Given the description of an element on the screen output the (x, y) to click on. 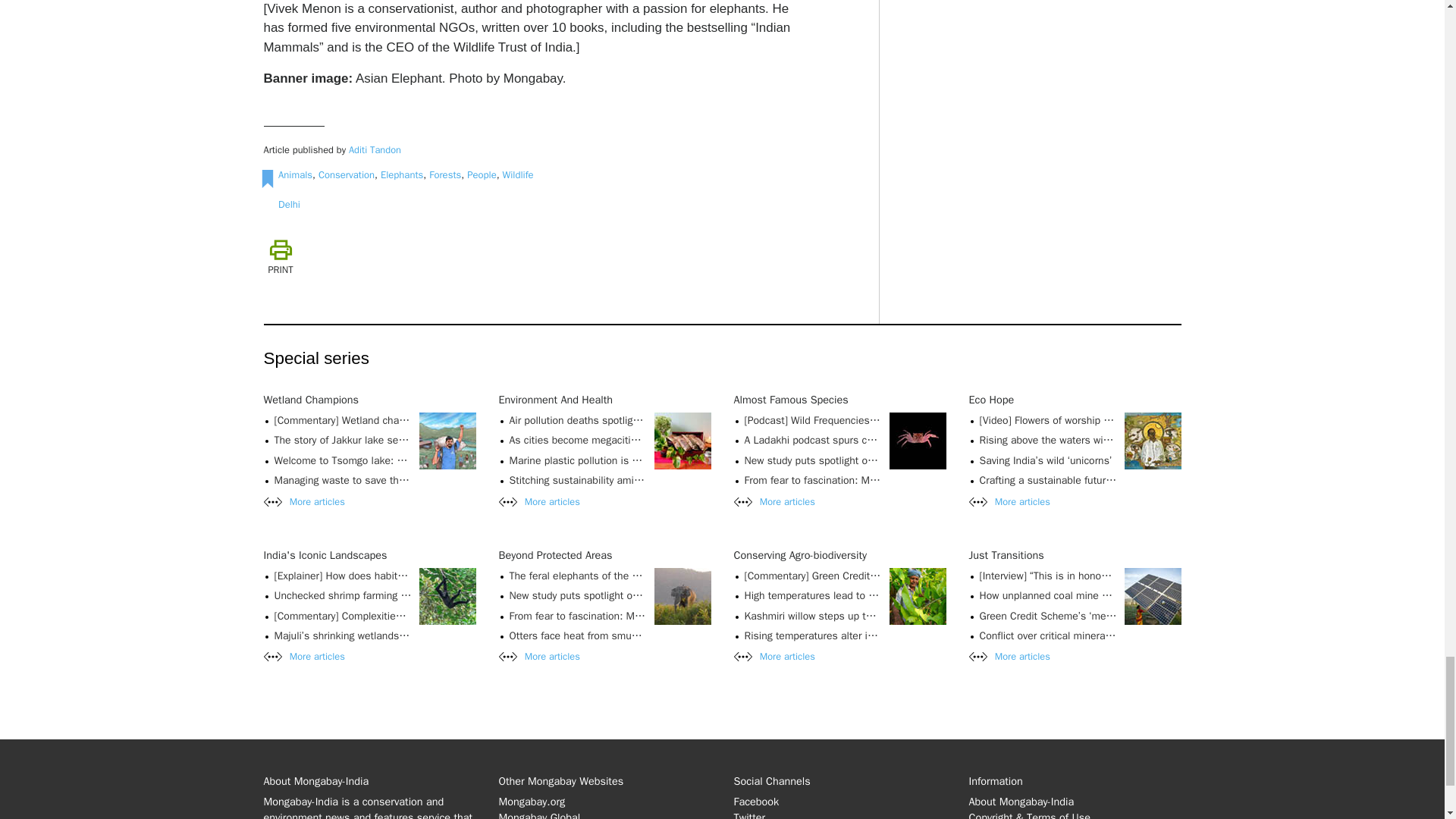
Elephants (401, 174)
PRINT (280, 256)
People (481, 174)
Animals (295, 174)
Wildlife (518, 174)
Aditi Tandon (375, 150)
Delhi (288, 204)
Forests (445, 174)
Conservation (346, 174)
Posts by Aditi Tandon (375, 150)
